Given the description of an element on the screen output the (x, y) to click on. 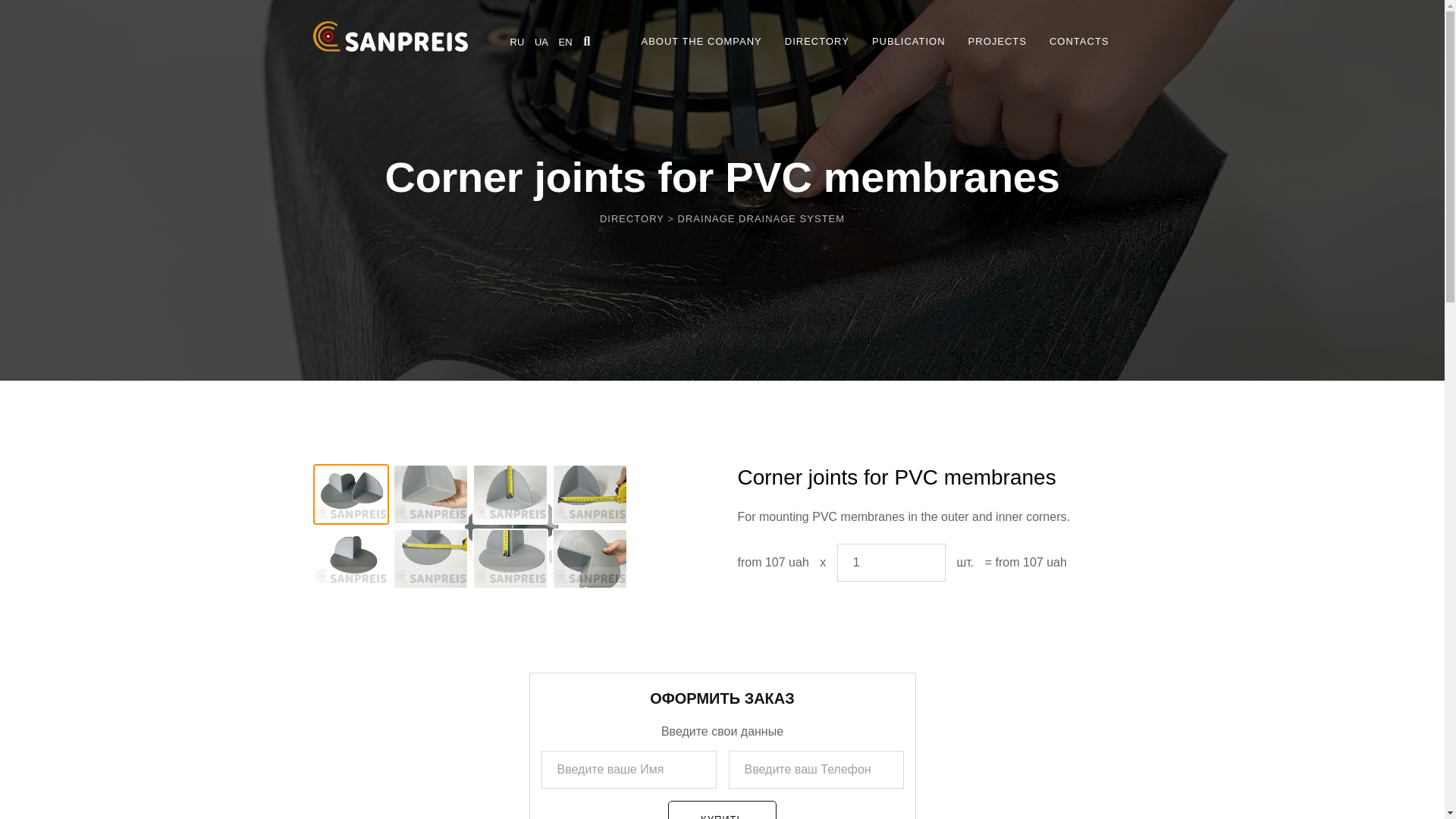
DRAINAGE DRAINAGE SYSTEM (761, 218)
PROJECTS (997, 41)
ABOUT THE COMPANY (700, 41)
CONTACTS (1079, 41)
1 (890, 562)
PUBLICATION (908, 41)
RU (516, 41)
DIRECTORY (631, 218)
DIRECTORY (816, 41)
EN (565, 41)
UA (541, 41)
